Given the description of an element on the screen output the (x, y) to click on. 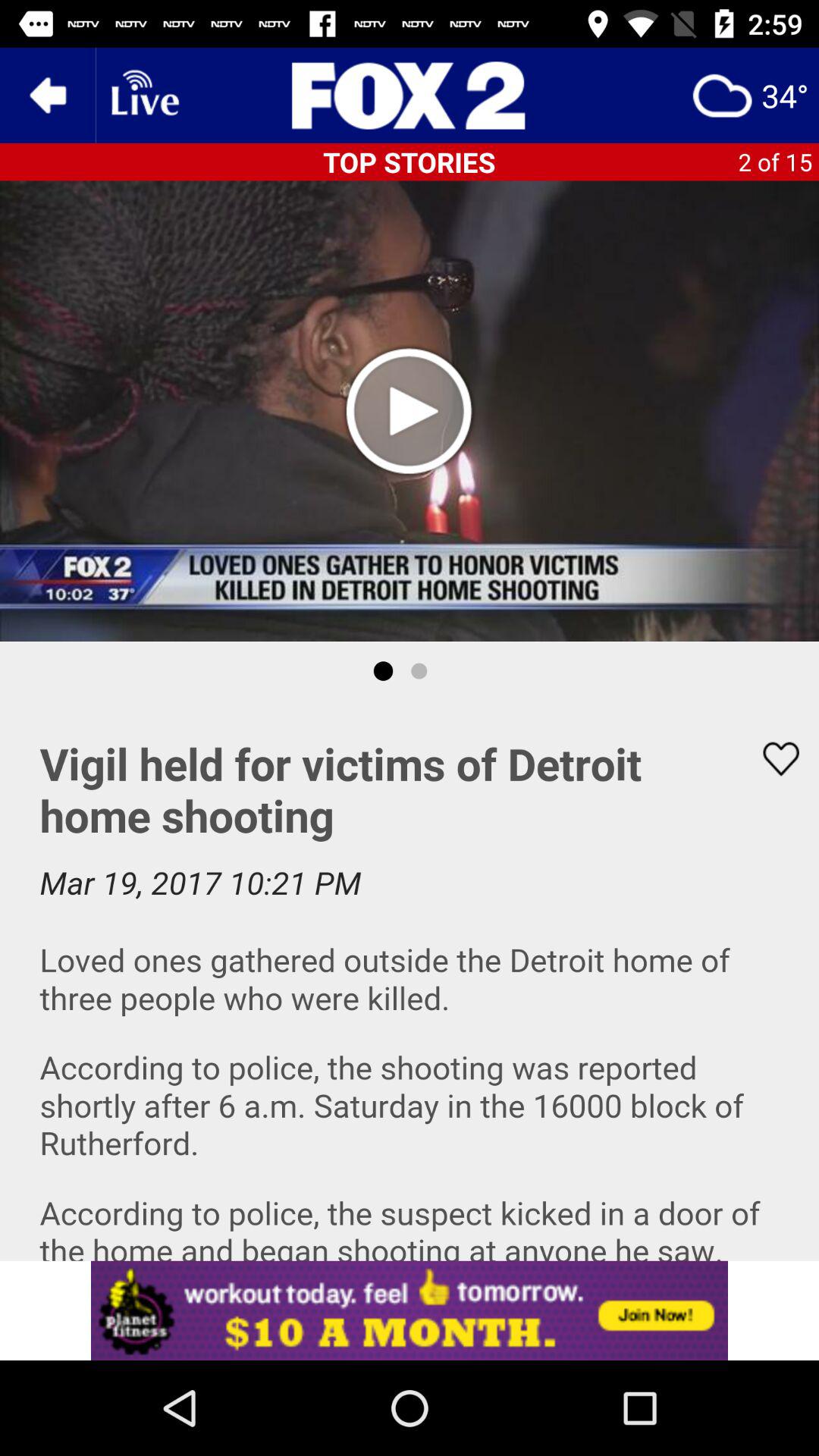
go to previous (47, 95)
